Given the description of an element on the screen output the (x, y) to click on. 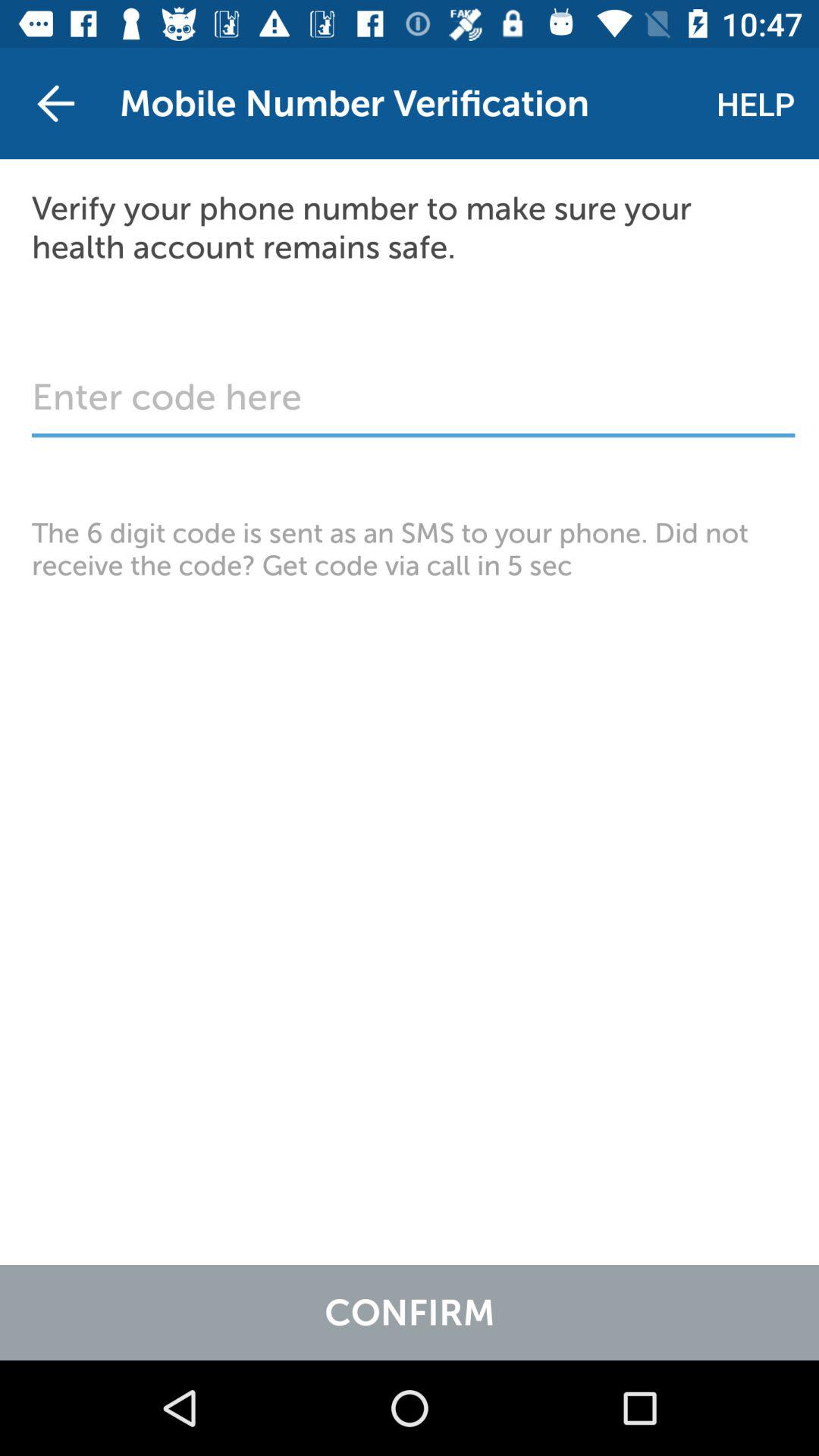
press help at the top right corner (755, 103)
